Given the description of an element on the screen output the (x, y) to click on. 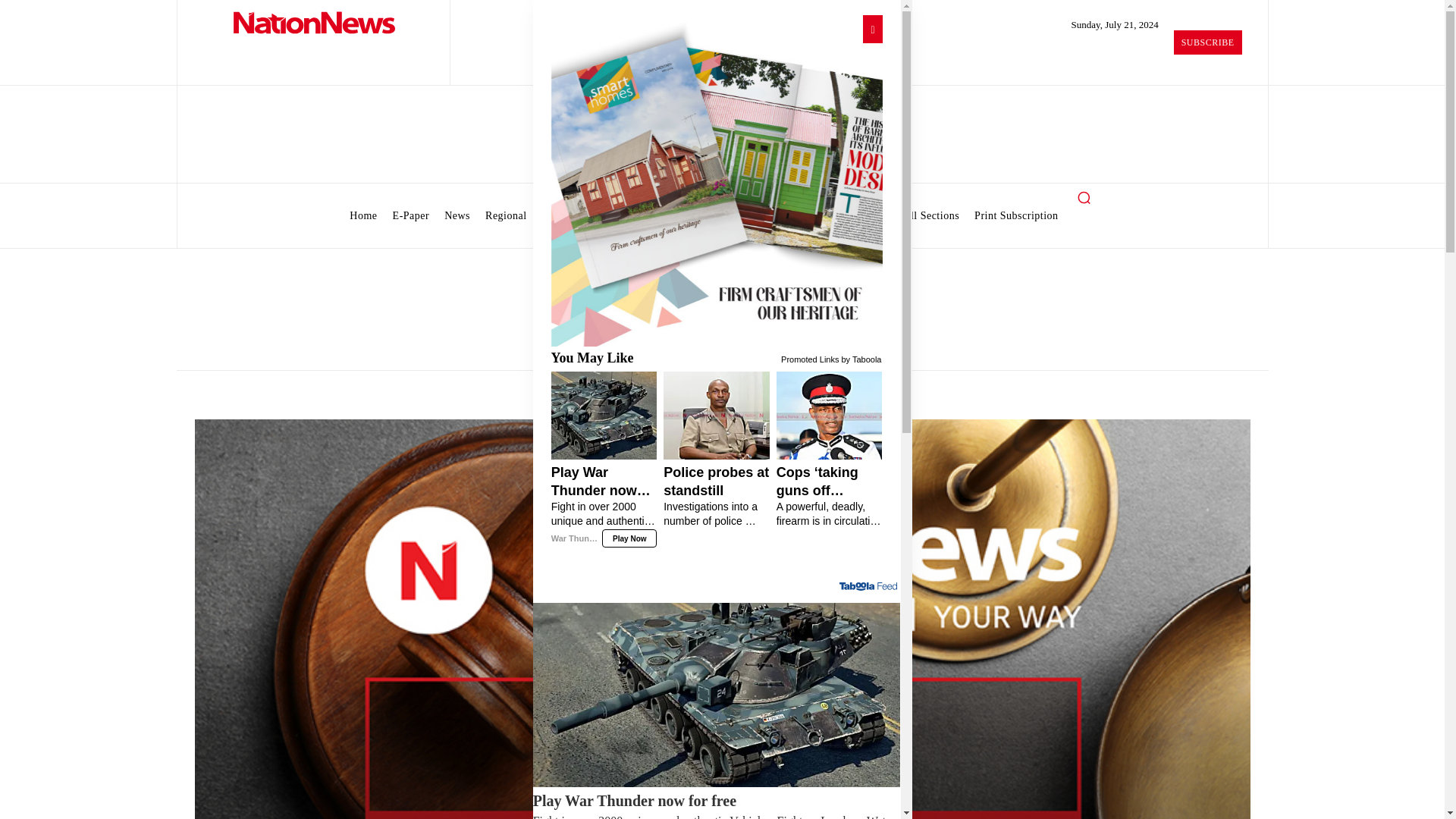
Play War Thunder now for free (604, 505)
Police probes at standstill (716, 495)
Promoted Links (809, 357)
by Taboola (860, 357)
Play War Thunder now for free (716, 805)
Play Now (629, 538)
Smart Homes Pop Up (716, 180)
